Given the description of an element on the screen output the (x, y) to click on. 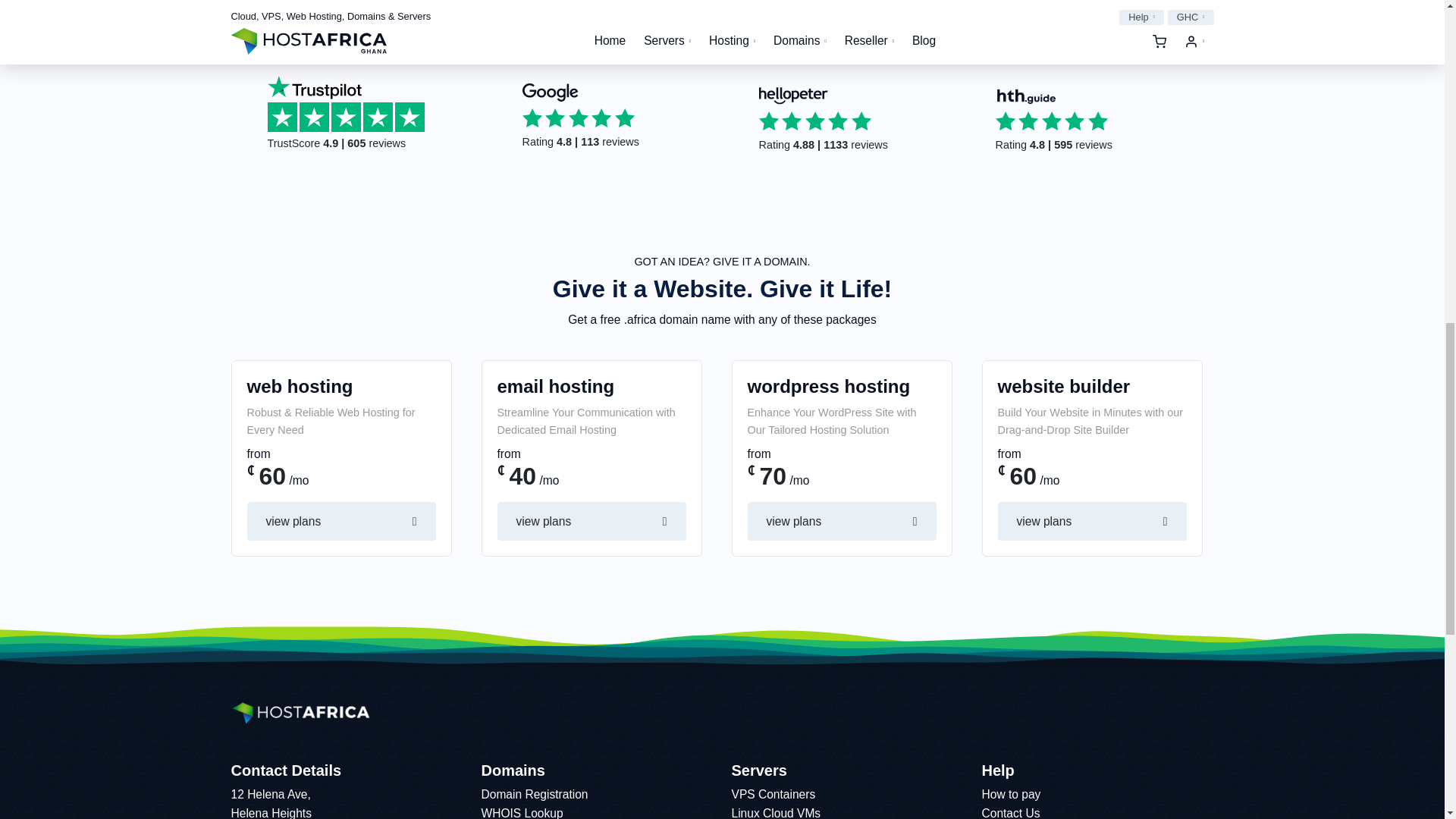
Our Trustpilot reviews (371, 115)
Our HTH reviews (1090, 120)
Our Hellopeter reviews (853, 120)
Our Google reviews (617, 117)
